Given the description of an element on the screen output the (x, y) to click on. 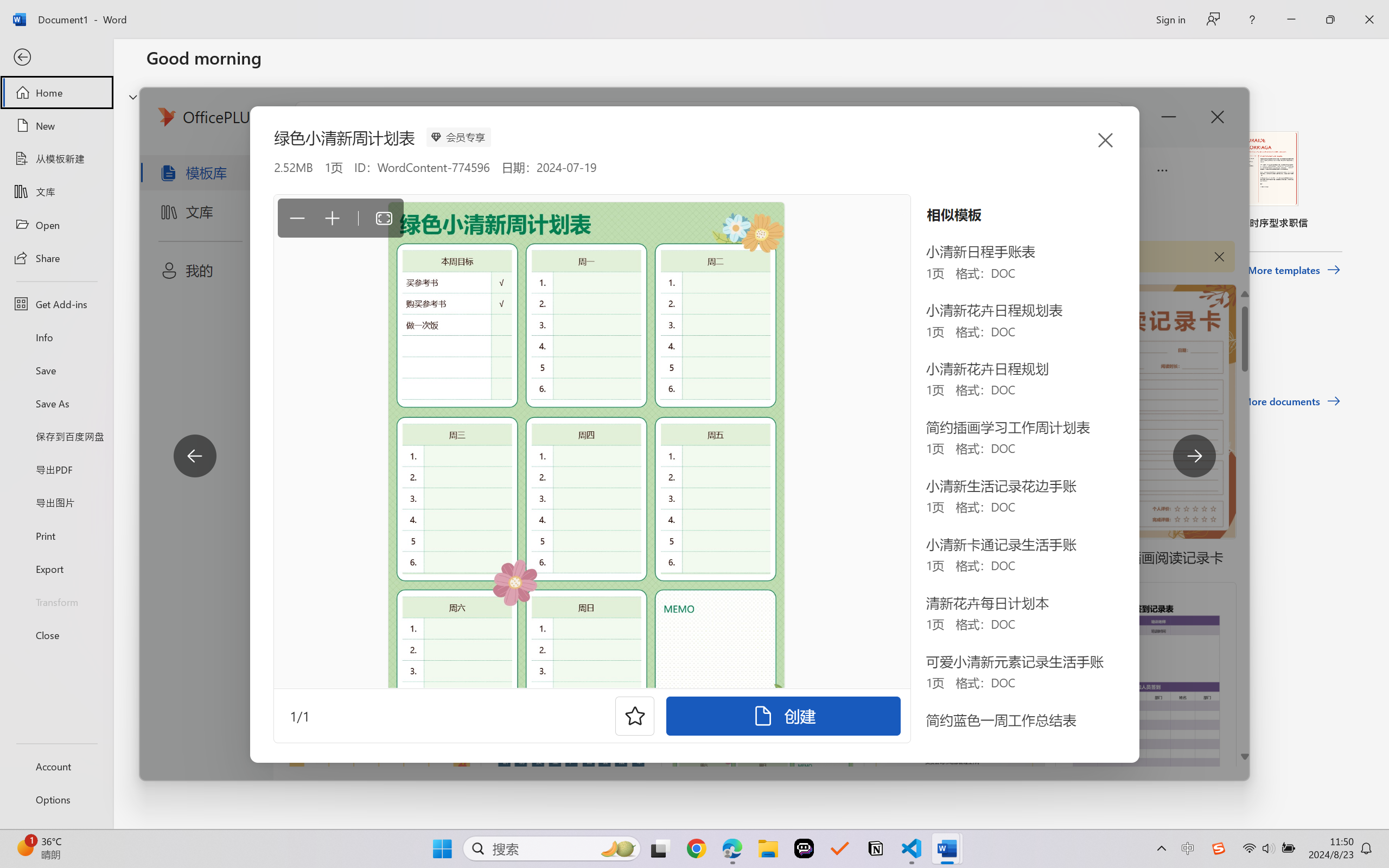
More templates (1293, 270)
Save As (56, 403)
New (56, 125)
Sign in (1170, 18)
